Given the description of an element on the screen output the (x, y) to click on. 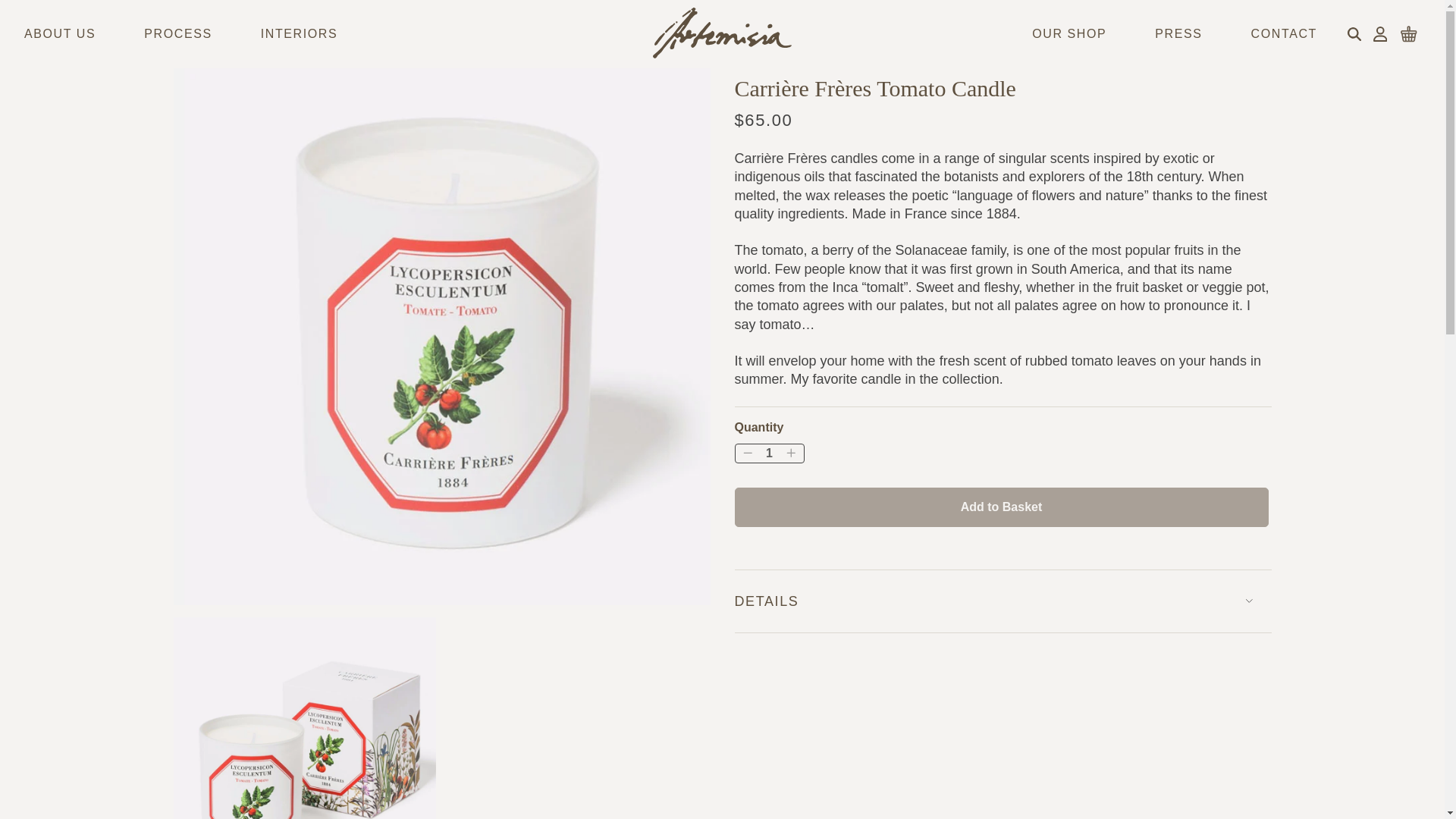
Skip to product information (186, 80)
PROCESS (177, 34)
1 (769, 453)
CONTACT (1283, 34)
Log In (1380, 33)
ABOUT US (60, 34)
INTERIORS (298, 34)
Basket (1409, 33)
Add to Basket (1000, 507)
PRESS (1178, 34)
